Given the description of an element on the screen output the (x, y) to click on. 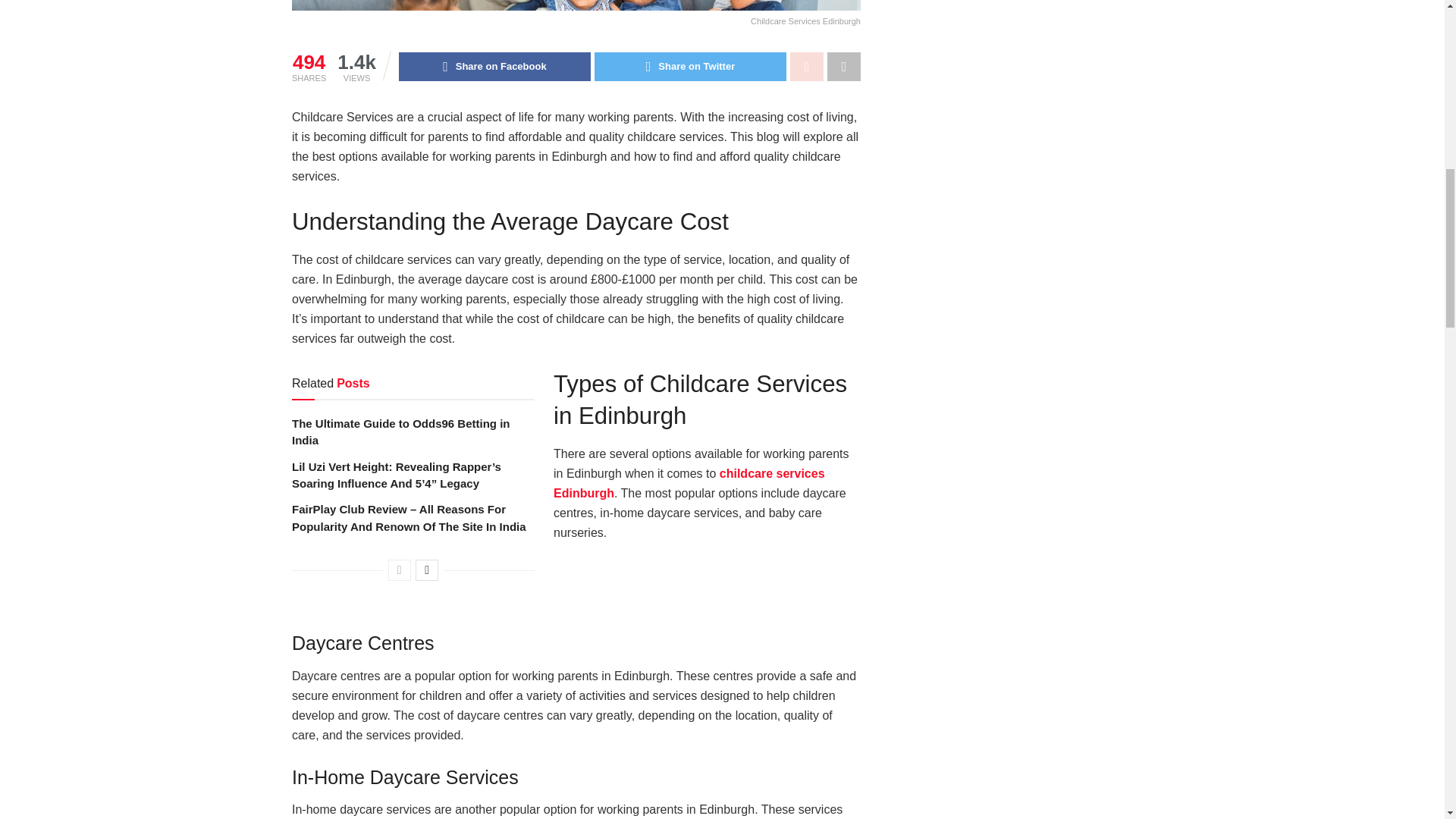
Previous (399, 569)
Next (426, 569)
